Given the description of an element on the screen output the (x, y) to click on. 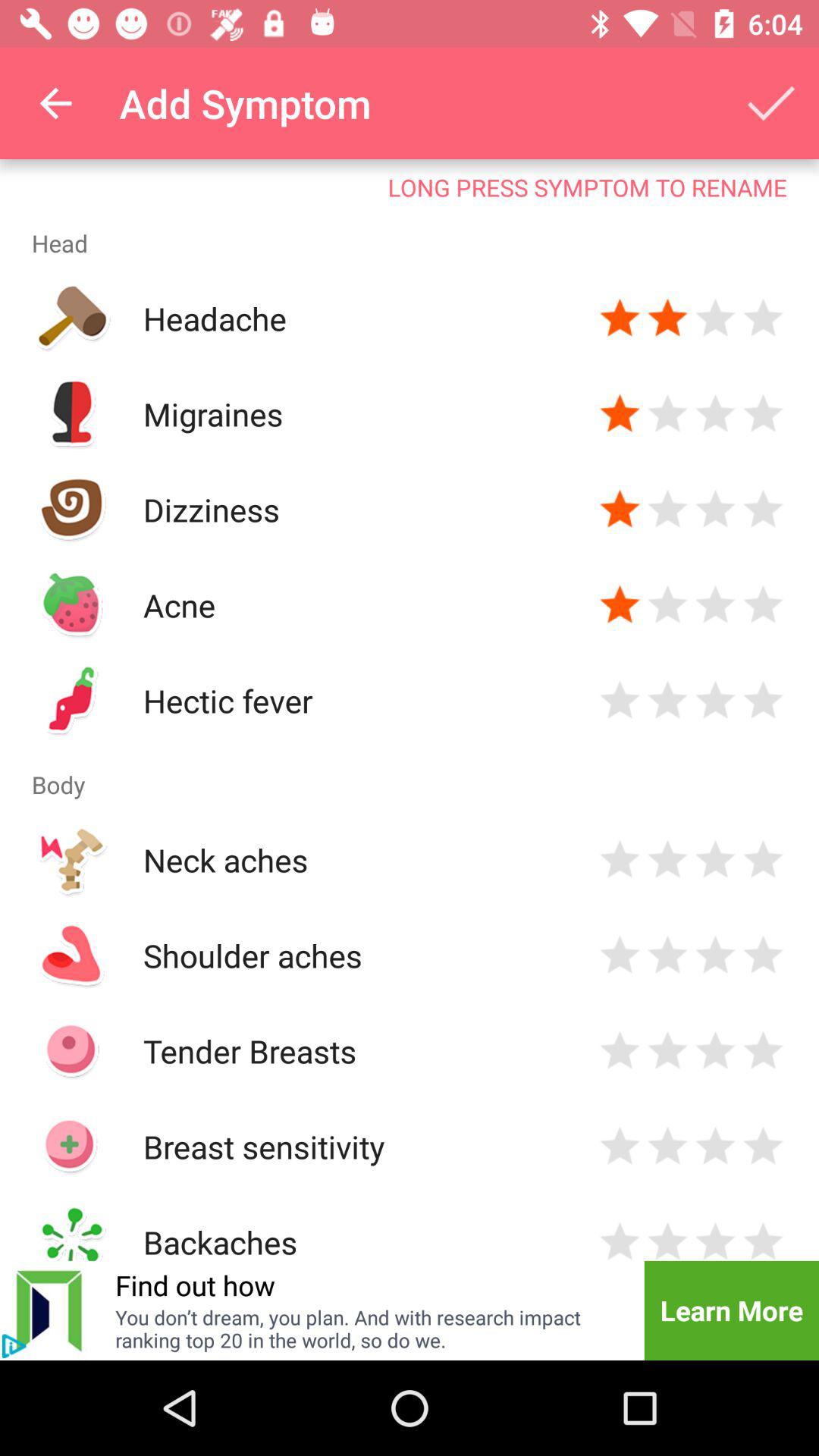
rate dizziness 3 stars (715, 509)
